Given the description of an element on the screen output the (x, y) to click on. 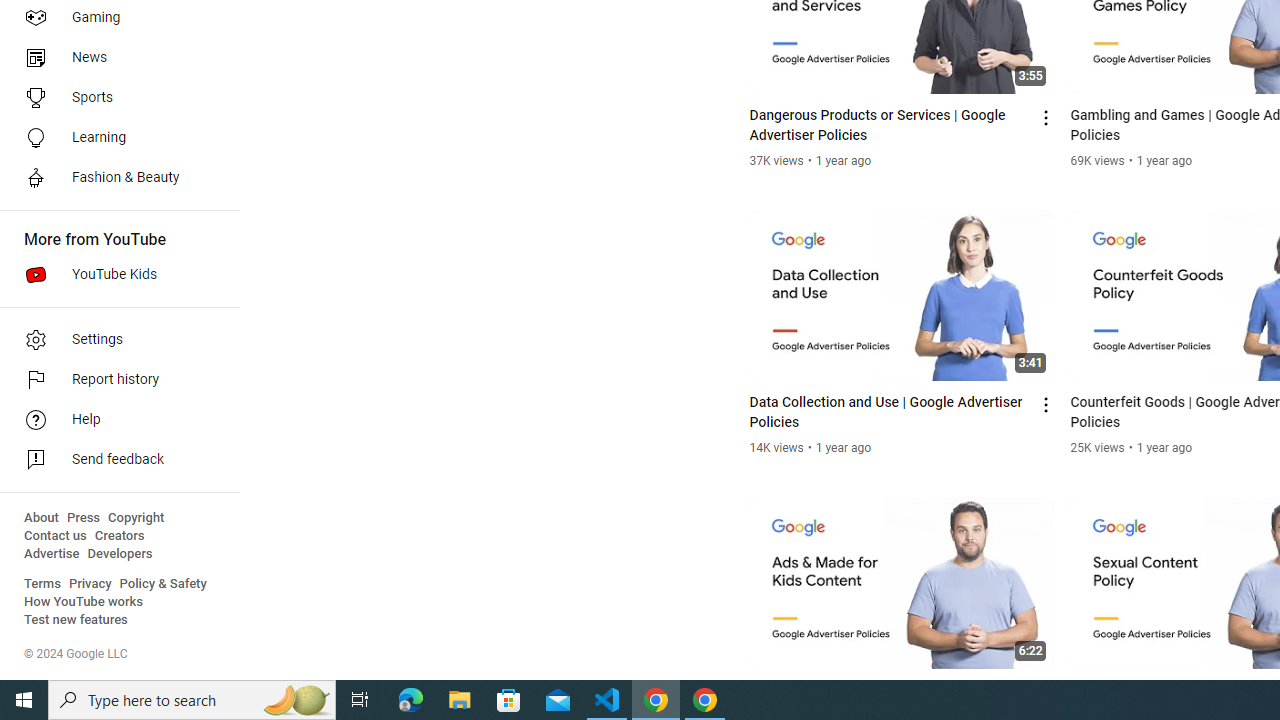
Advertise (51, 554)
How YouTube works (83, 602)
News (113, 57)
Creators (118, 536)
Developers (120, 554)
Report history (113, 380)
Test new features (76, 620)
Copyright (136, 518)
YouTube Kids (113, 274)
Fashion & Beauty (113, 177)
Sports (113, 97)
Learning (113, 137)
Action menu (1046, 691)
